Given the description of an element on the screen output the (x, y) to click on. 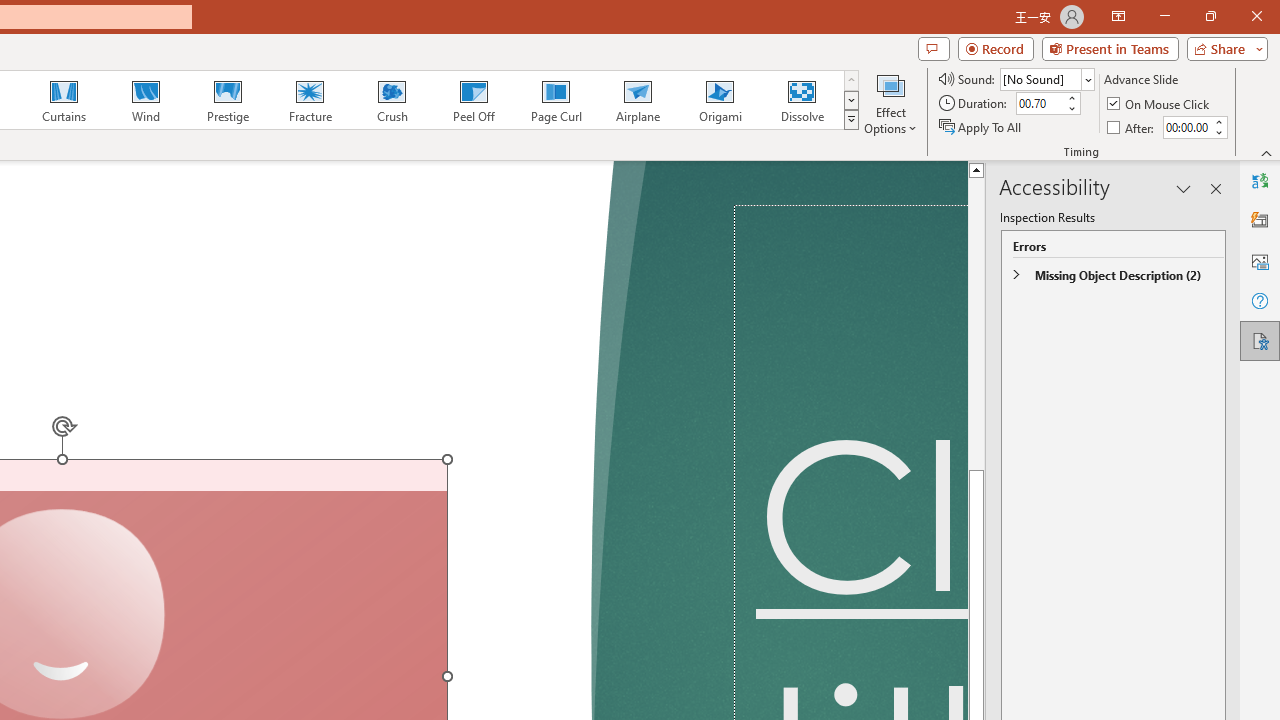
After (1186, 127)
Prestige (227, 100)
Fracture (309, 100)
Alt Text (1260, 260)
Transition Effects (850, 120)
After (1131, 126)
Duration (1039, 103)
Sound (1046, 78)
Less (1218, 132)
Dissolve (802, 100)
More (1218, 121)
Airplane (637, 100)
